Given the description of an element on the screen output the (x, y) to click on. 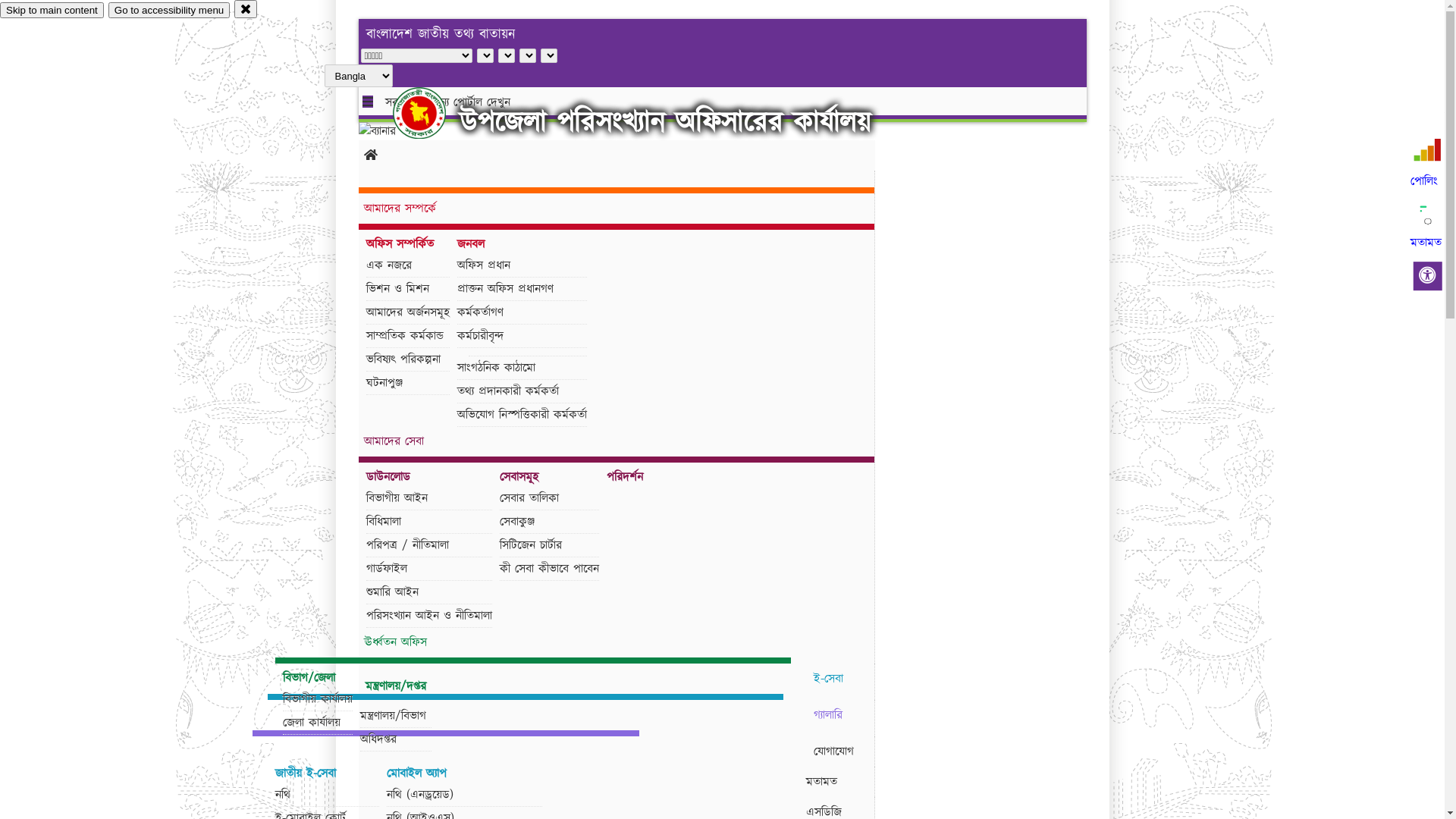
Go to accessibility menu Element type: text (168, 10)

                
             Element type: hover (431, 112)
close Element type: hover (245, 9)
Skip to main content Element type: text (51, 10)
